Given the description of an element on the screen output the (x, y) to click on. 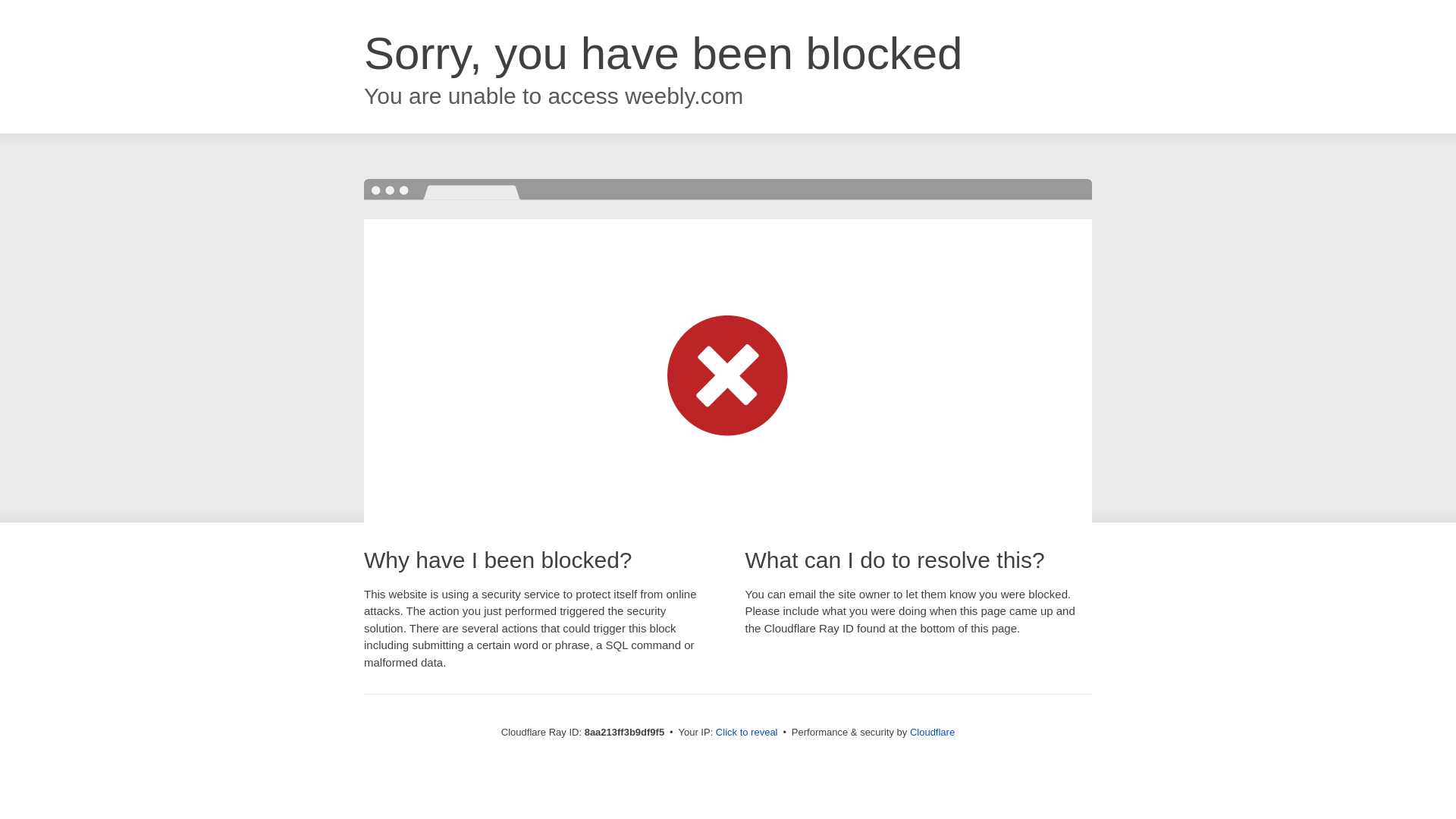
Click to reveal (746, 732)
Cloudflare (932, 731)
